Given the description of an element on the screen output the (x, y) to click on. 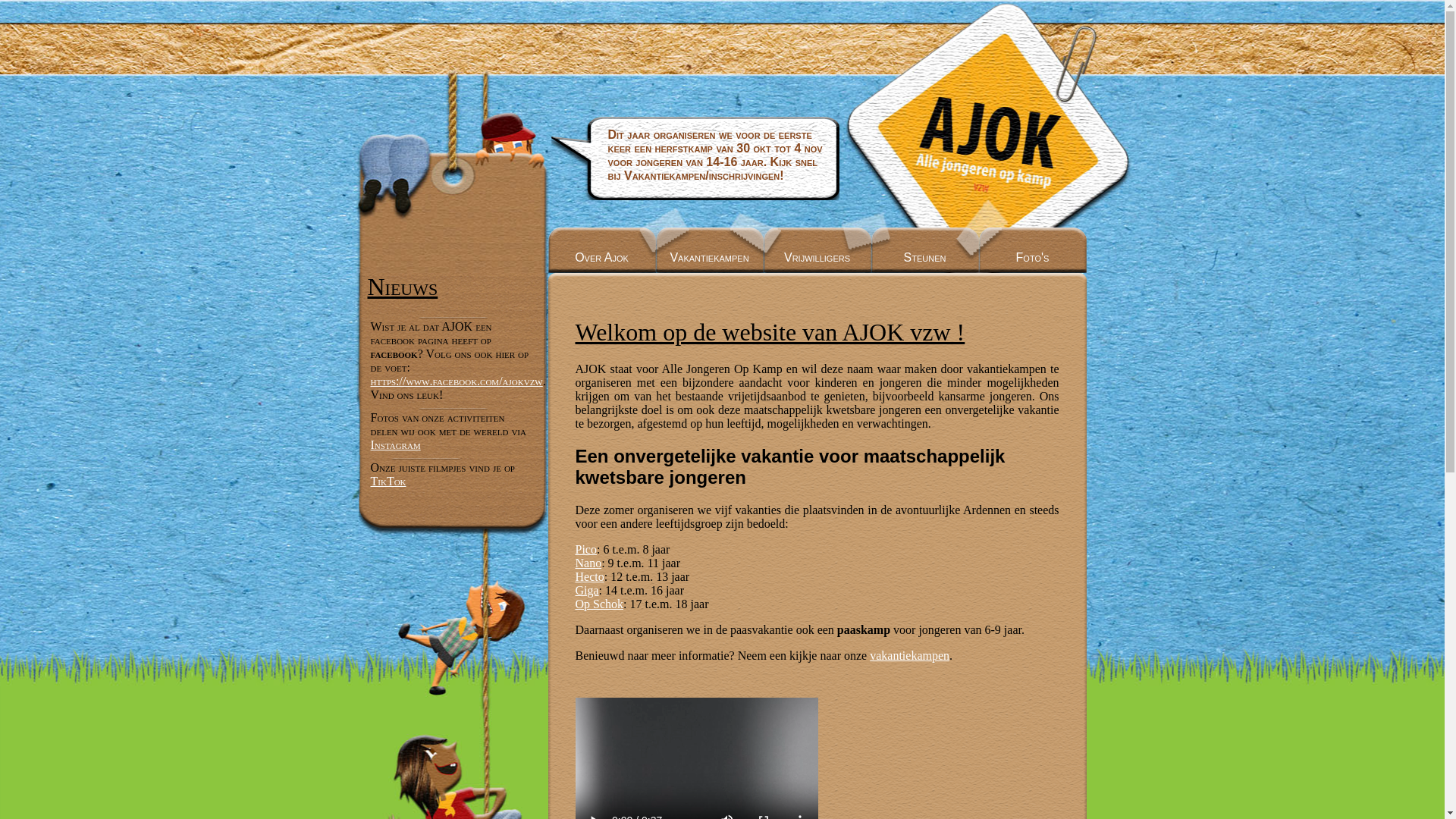
Over Ajok Element type: text (601, 250)
TikTok Element type: text (387, 480)
https://www.facebook.com/ajokvzw Element type: text (456, 380)
vakantiekampen Element type: text (909, 655)
Op Schok Element type: text (598, 603)
Nano Element type: text (587, 562)
Vrijwilligers Element type: text (816, 250)
Foto's Element type: text (1031, 250)
Pico Element type: text (585, 548)
Vakantiekampen Element type: text (708, 250)
Instagram Element type: text (395, 444)
Giga Element type: text (586, 589)
Hecto Element type: text (588, 576)
Steunen Element type: text (924, 250)
